Given the description of an element on the screen output the (x, y) to click on. 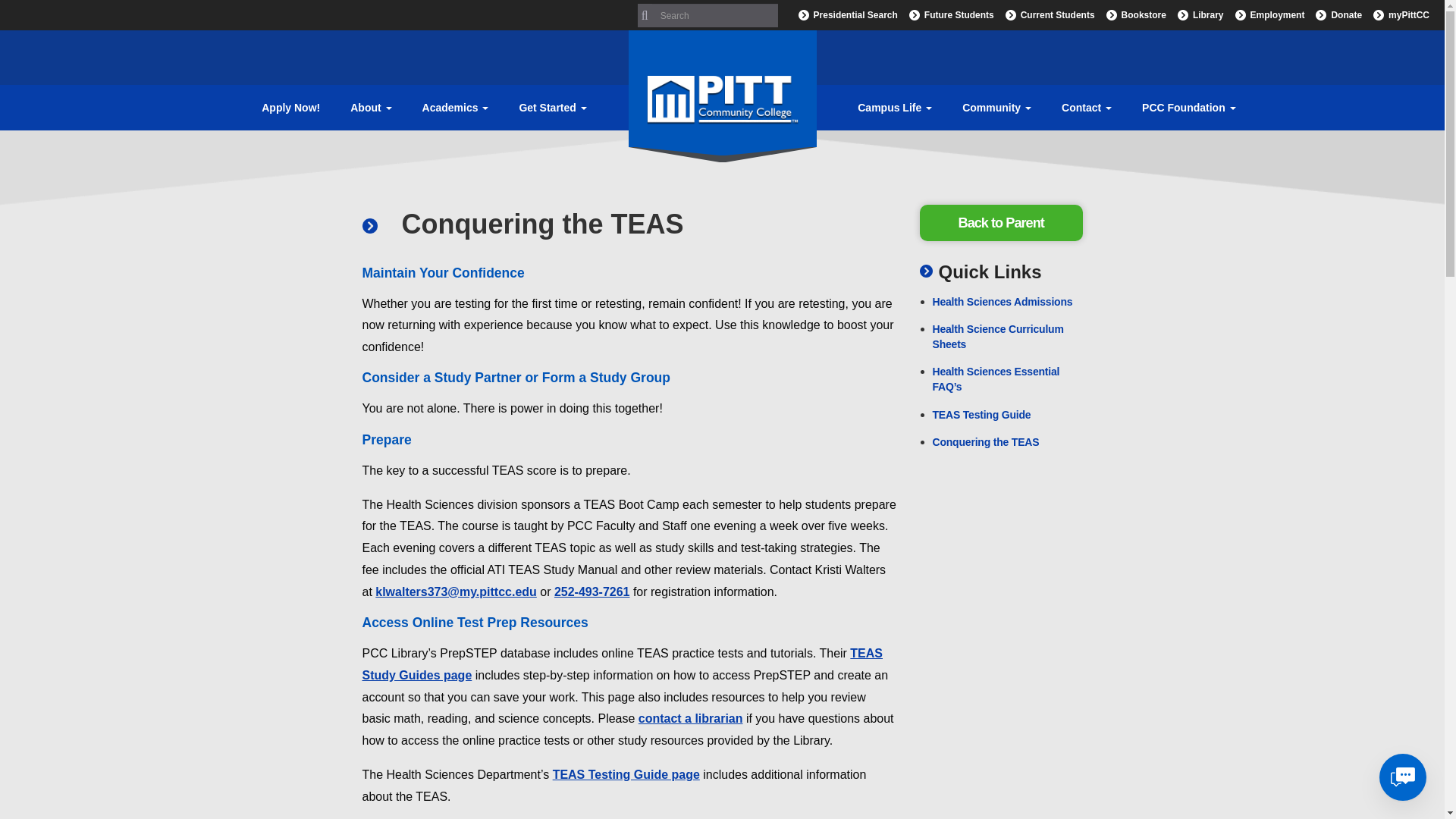
Academics (455, 107)
Future Students (949, 14)
About (370, 107)
Get Started (552, 107)
Employment (1267, 14)
Apply Now! (290, 107)
Search Box (707, 15)
About (370, 107)
Bookstore (1134, 14)
Get Started (552, 107)
Academics (455, 107)
Donate (1336, 14)
Library (1198, 14)
Current Students (1048, 14)
Presidential Search (845, 14)
